Given the description of an element on the screen output the (x, y) to click on. 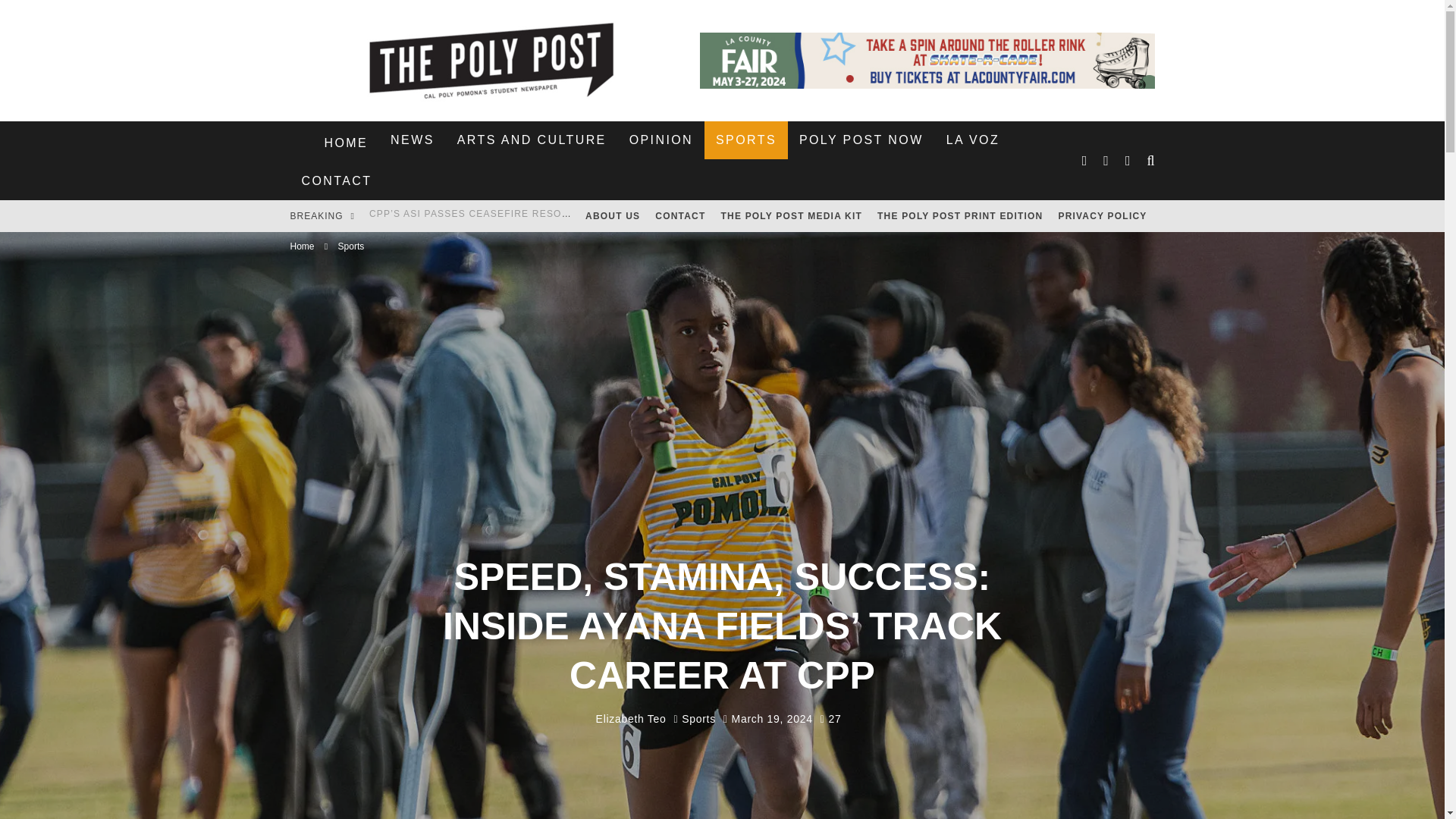
SPORTS (745, 139)
NEWS (411, 139)
HOME (345, 143)
OPINION (660, 139)
Posts by Elizabeth Teo (630, 718)
ARTS AND CULTURE (531, 139)
